Given the description of an element on the screen output the (x, y) to click on. 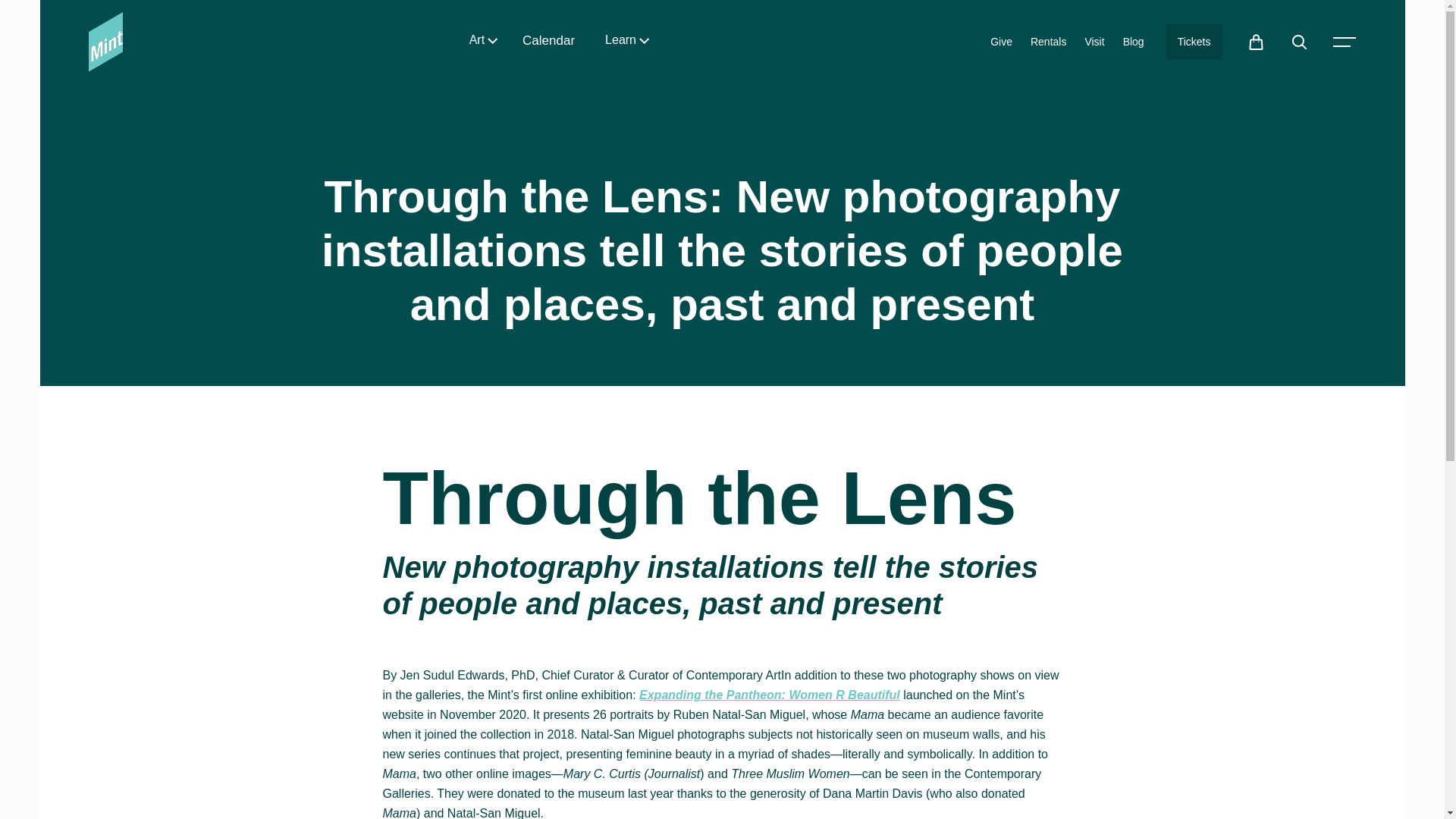
Rentals (1047, 41)
Visit (1093, 41)
Give (1000, 41)
Blog (1133, 41)
Tickets (1194, 41)
